Given the description of an element on the screen output the (x, y) to click on. 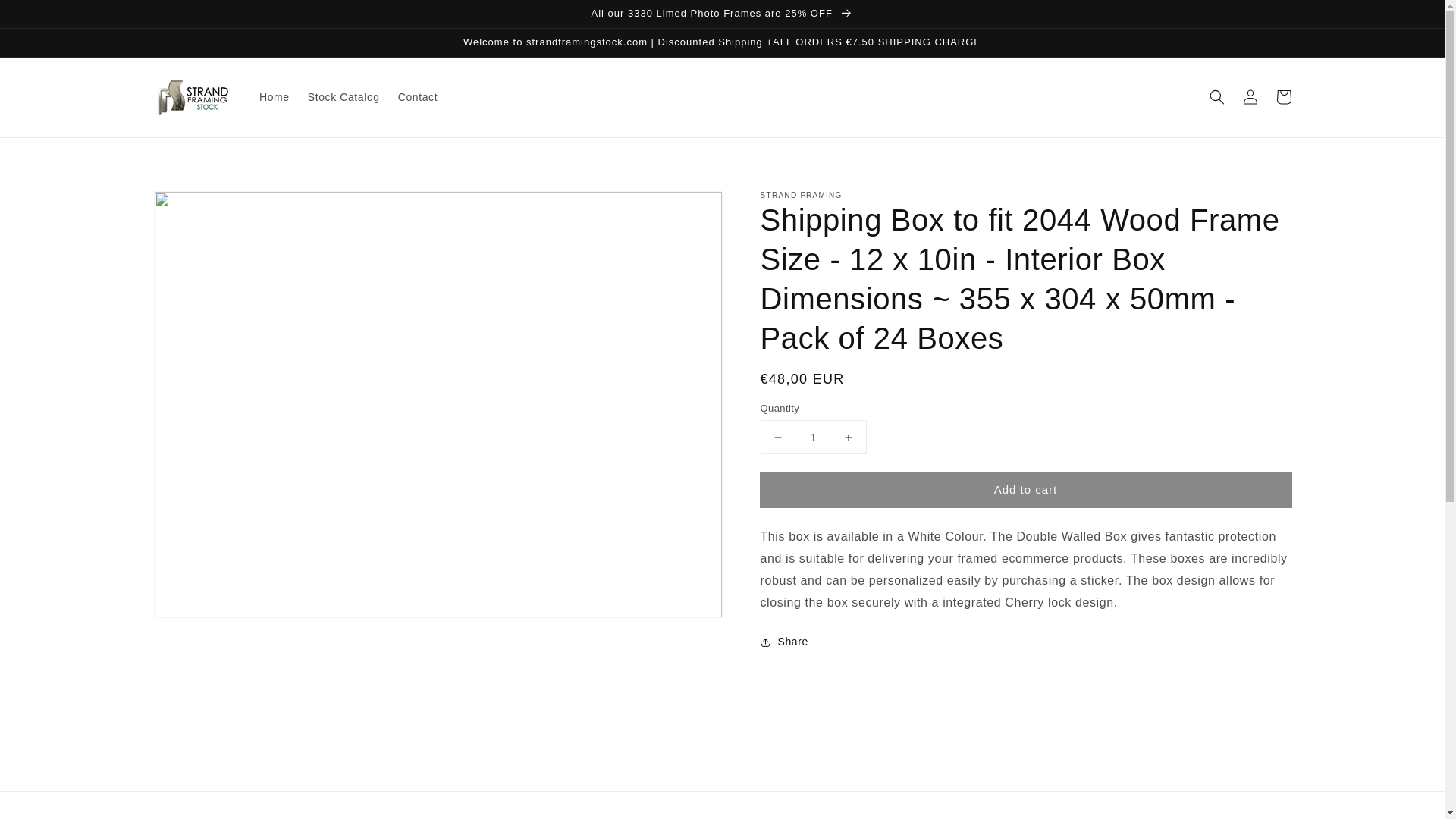
Skip to content (45, 16)
1 (812, 436)
Cart (1283, 96)
Contact (417, 97)
Log in (1249, 96)
Home (274, 97)
Stock Catalog (343, 97)
Add to cart (1025, 489)
Skip to product information (198, 207)
